Given the description of an element on the screen output the (x, y) to click on. 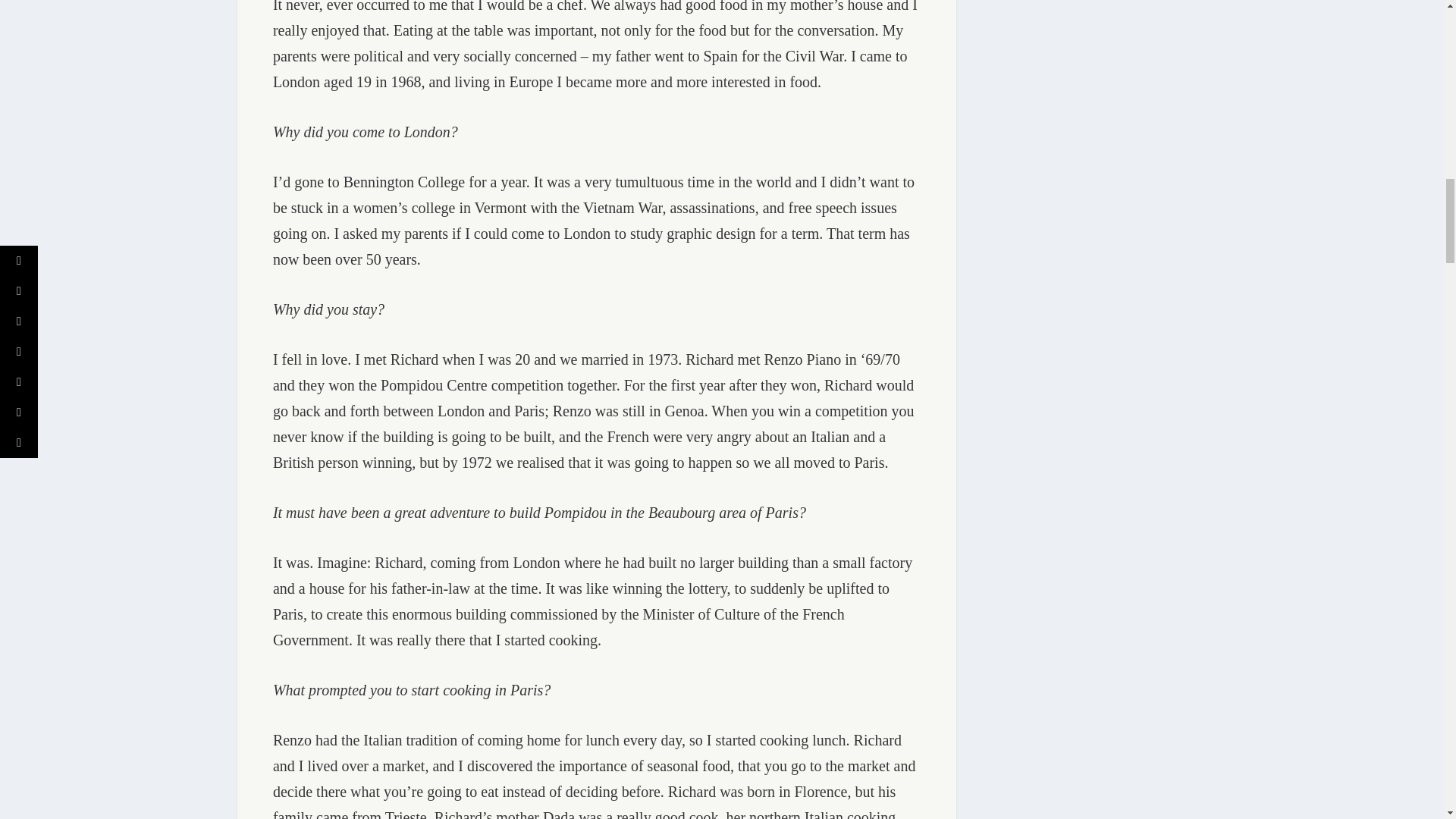
Vietnam War (622, 207)
the Pompidou Centre competition (461, 384)
the Civil War (802, 55)
Renzo Piano (802, 359)
Bennington College (404, 181)
